Given the description of an element on the screen output the (x, y) to click on. 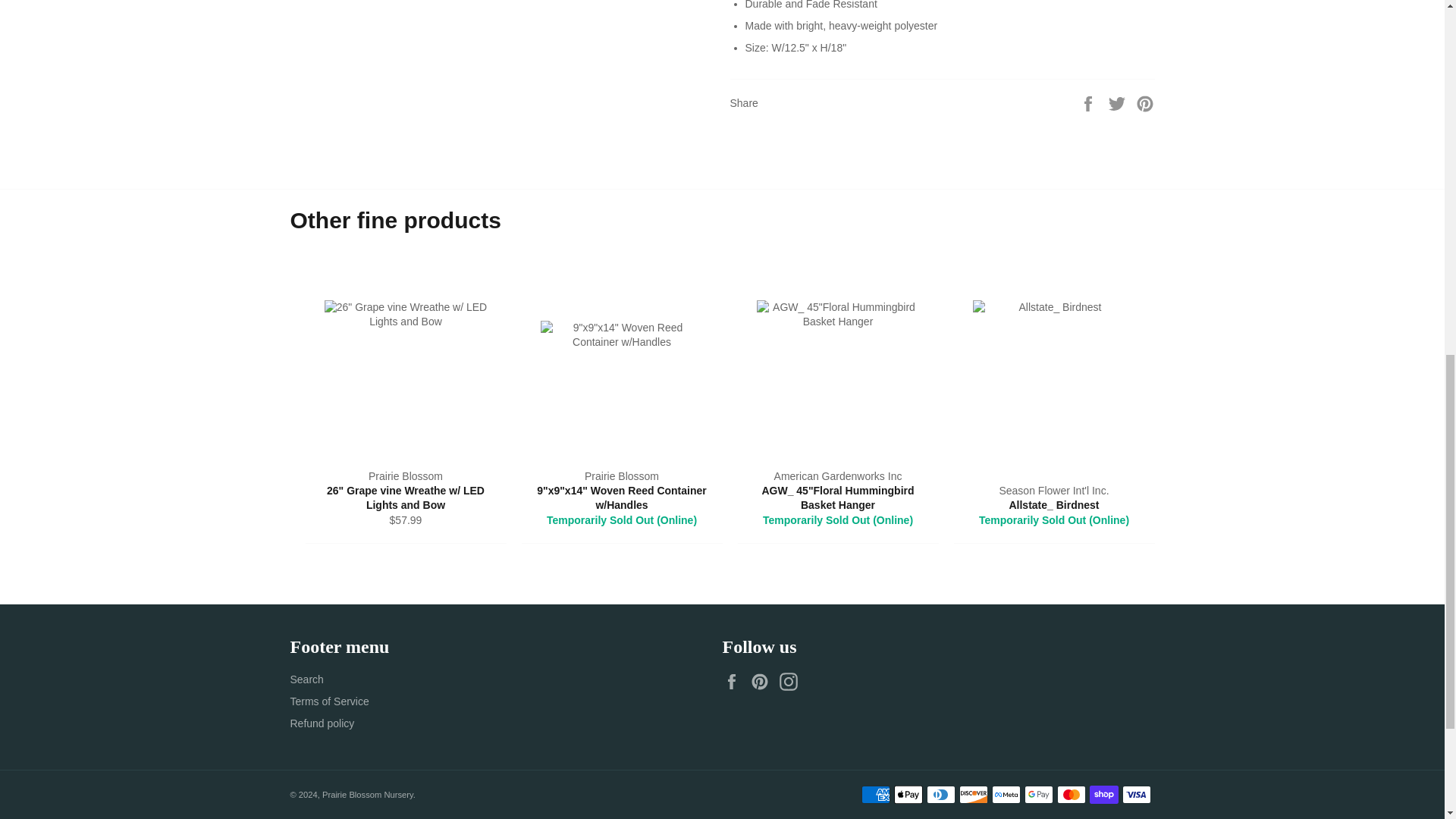
Smile.io Rewards Program Launcher (1374, 26)
Share on Facebook (1089, 102)
Prairie Blossom Nursery on Pinterest (763, 681)
Pin on Pinterest (1144, 102)
Tweet on Twitter (1118, 102)
Prairie Blossom Nursery on Facebook (735, 681)
Prairie Blossom Nursery on Instagram (791, 681)
